Given the description of an element on the screen output the (x, y) to click on. 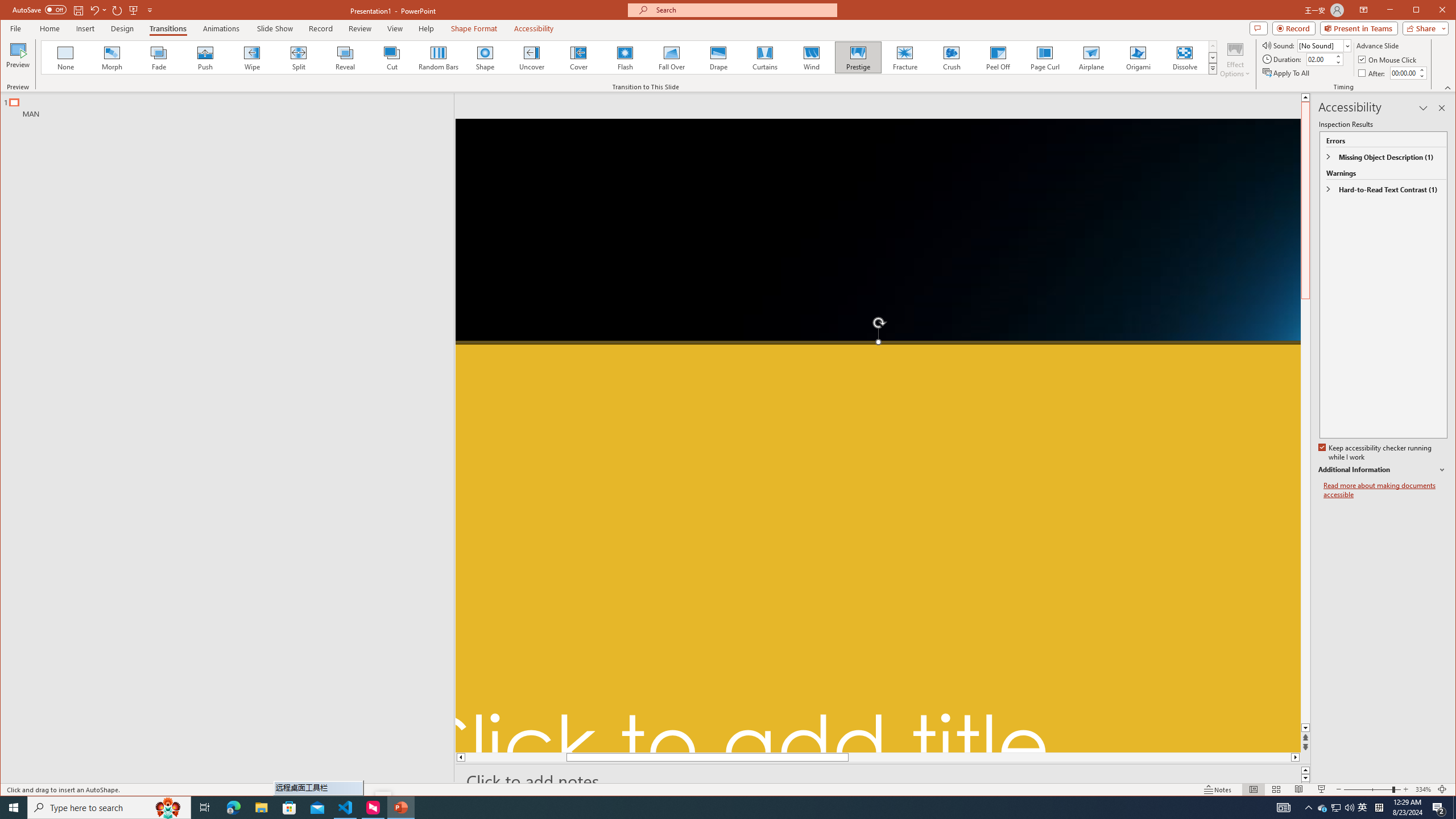
Home (49, 28)
Neon laser lights aligned to form a triangle (877, 435)
None (65, 57)
Duration (1320, 59)
Review (360, 28)
Cover (577, 57)
